Given the description of an element on the screen output the (x, y) to click on. 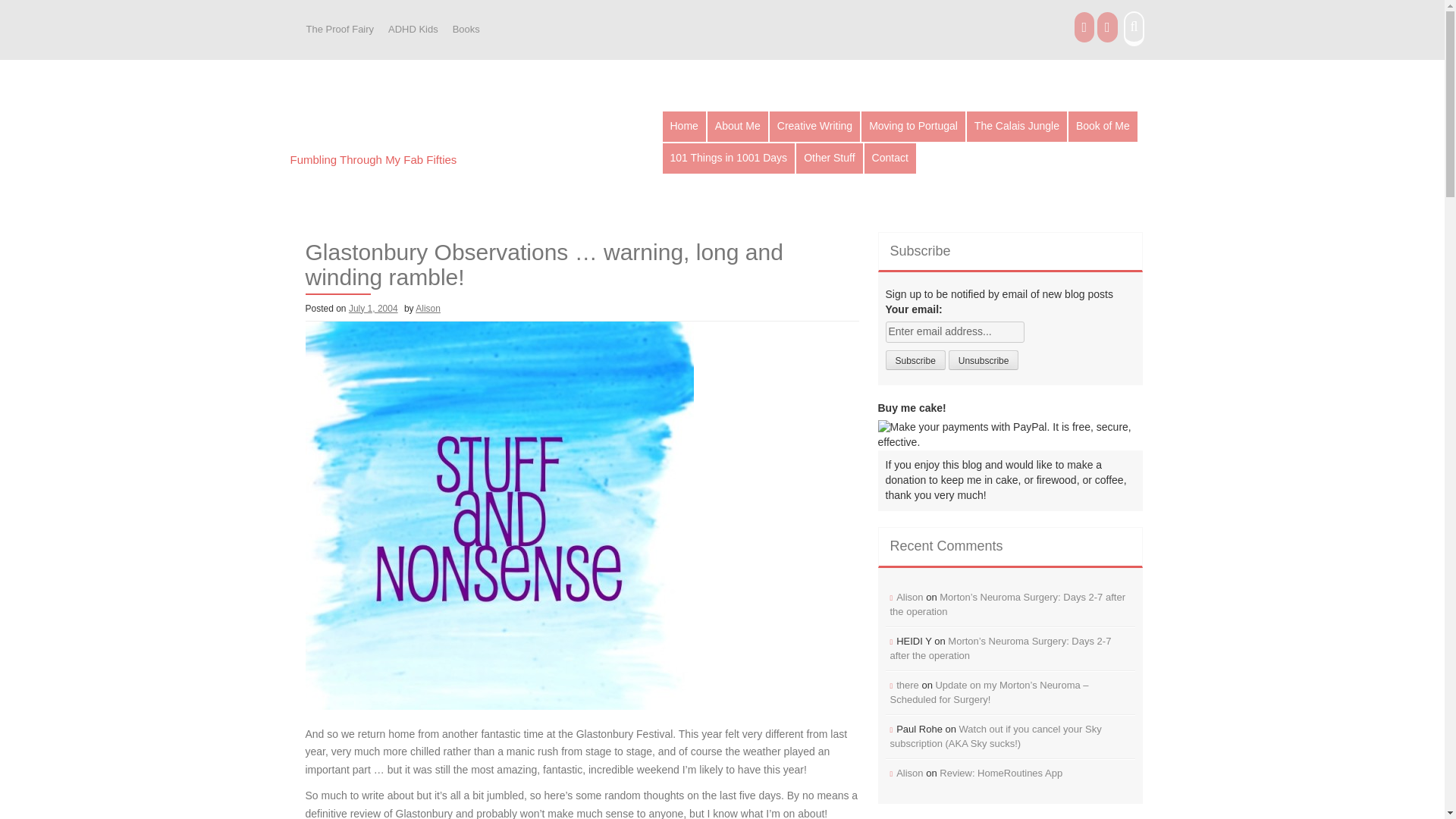
Creative Writing (815, 126)
Book of Me (1102, 126)
The Calais Jungle (1016, 126)
Books (465, 29)
Stuff and Nonsense (409, 131)
Calais (1016, 126)
July 1, 2004 (373, 308)
Contact (889, 158)
Other Stuff (828, 158)
Enter email address... (955, 332)
